Given the description of an element on the screen output the (x, y) to click on. 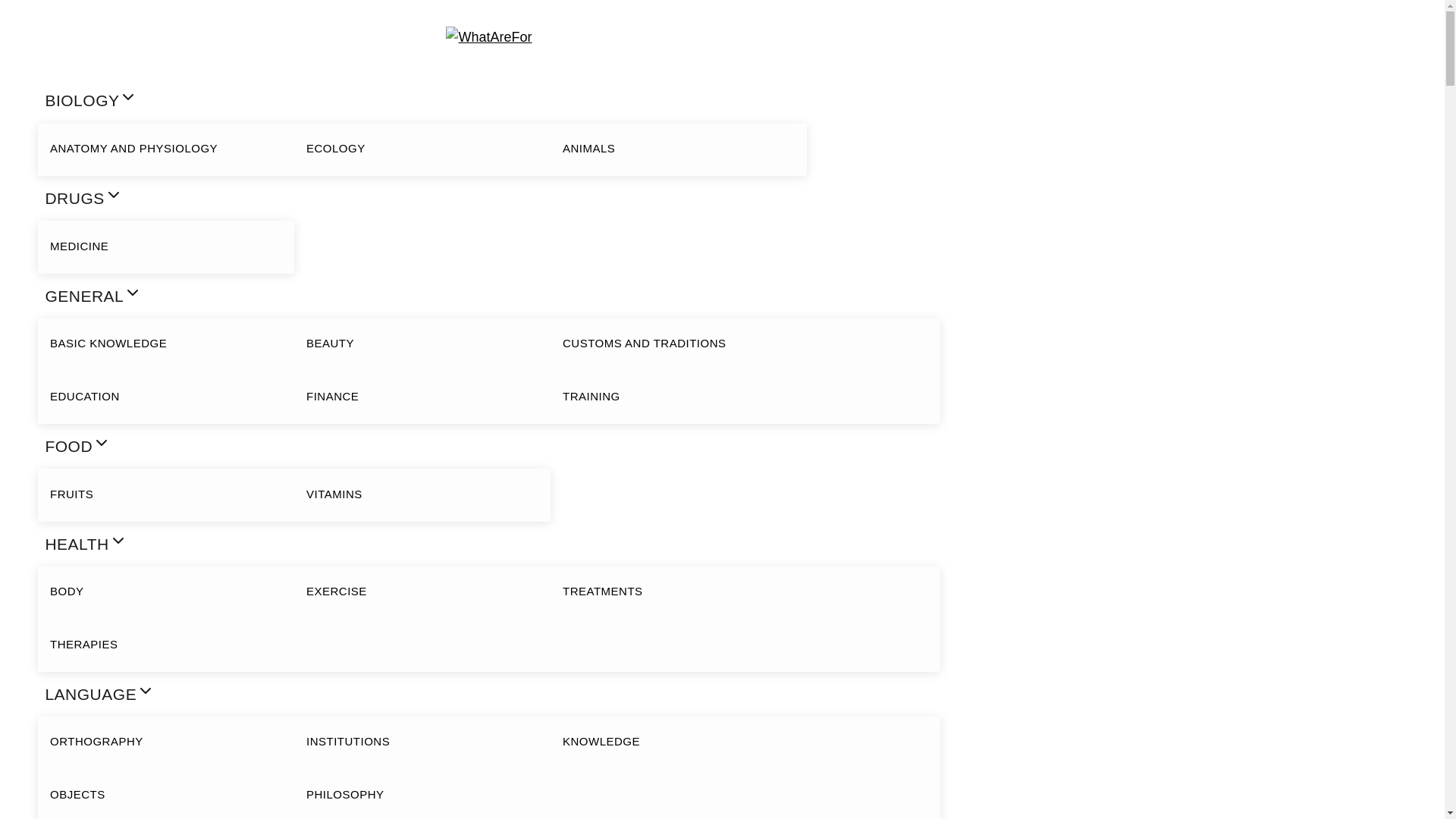
EXPAND (113, 194)
MEDICINE (165, 245)
BODY (165, 591)
BIOLOGYEXPAND (421, 100)
BEAUTY (422, 343)
TRAINING (678, 396)
EXERCISE (422, 591)
THERAPIES (165, 644)
CUSTOMS AND TRADITIONS (678, 343)
ANATOMY AND PHYSIOLOGY (165, 148)
